Given the description of an element on the screen output the (x, y) to click on. 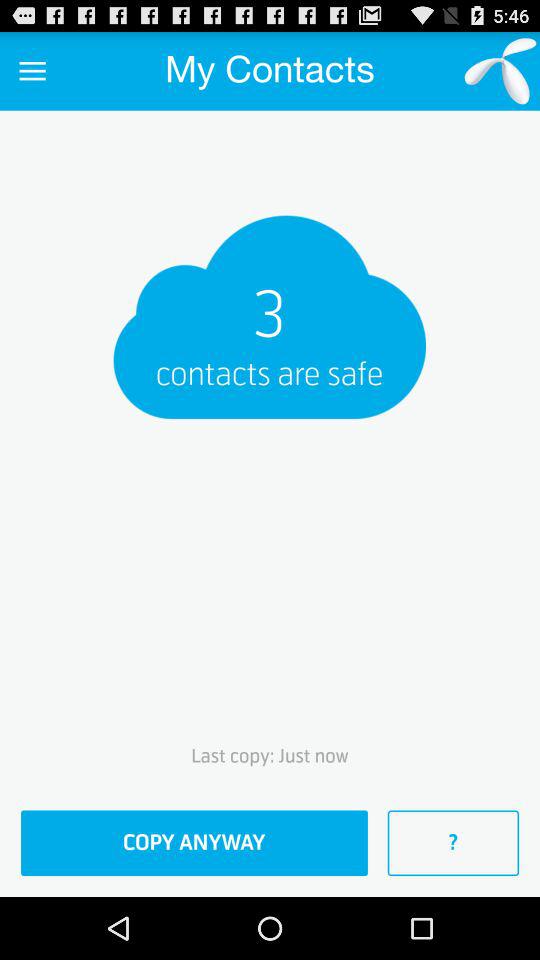
swipe to ?  item (453, 843)
